Given the description of an element on the screen output the (x, y) to click on. 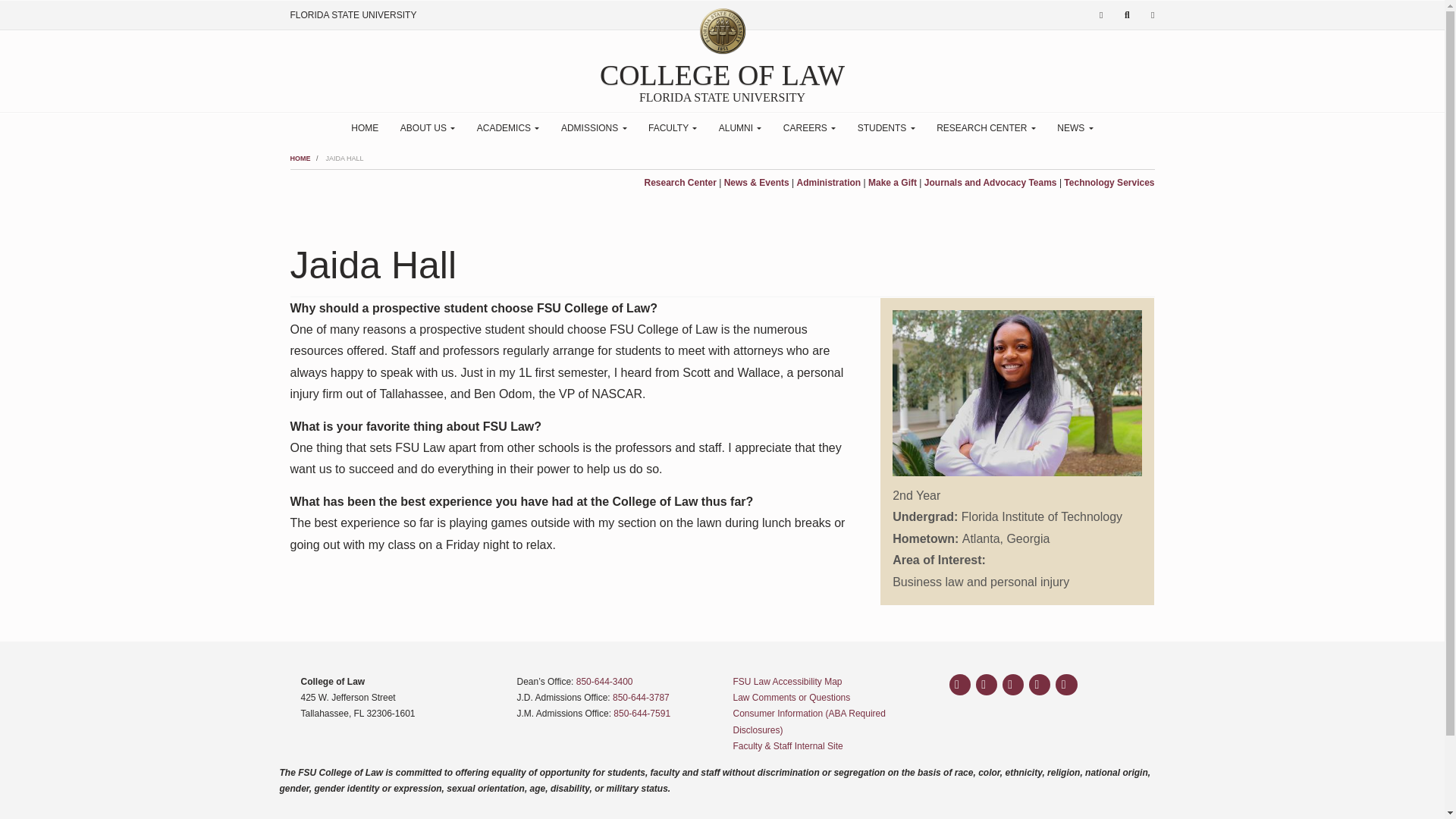
FLORIDA STATE UNIVERSITY (352, 14)
Consumer Information (808, 721)
Search (1126, 15)
Follow Florida State on Instagram (986, 684)
Like Florida State on Facebook (960, 684)
Connect with Florida State on LinkedIn (1066, 684)
Follow Florida State on Twitter (1013, 684)
Follow Florida State on Youtube (1039, 684)
Faculty and staff site (787, 746)
Webmail (1101, 15)
